Given the description of an element on the screen output the (x, y) to click on. 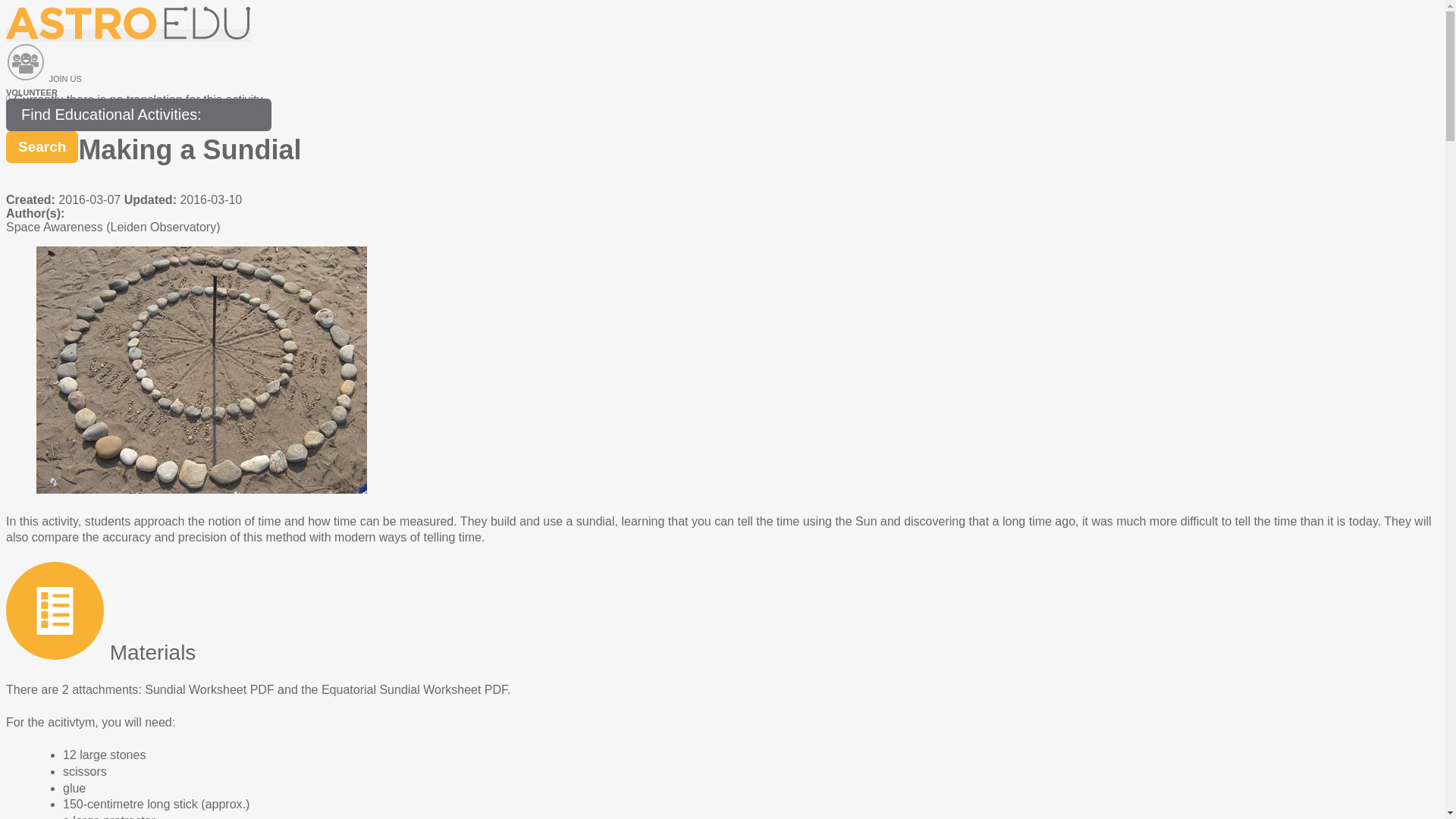
Search (41, 146)
Join us: Volunteer! (25, 61)
